Given the description of an element on the screen output the (x, y) to click on. 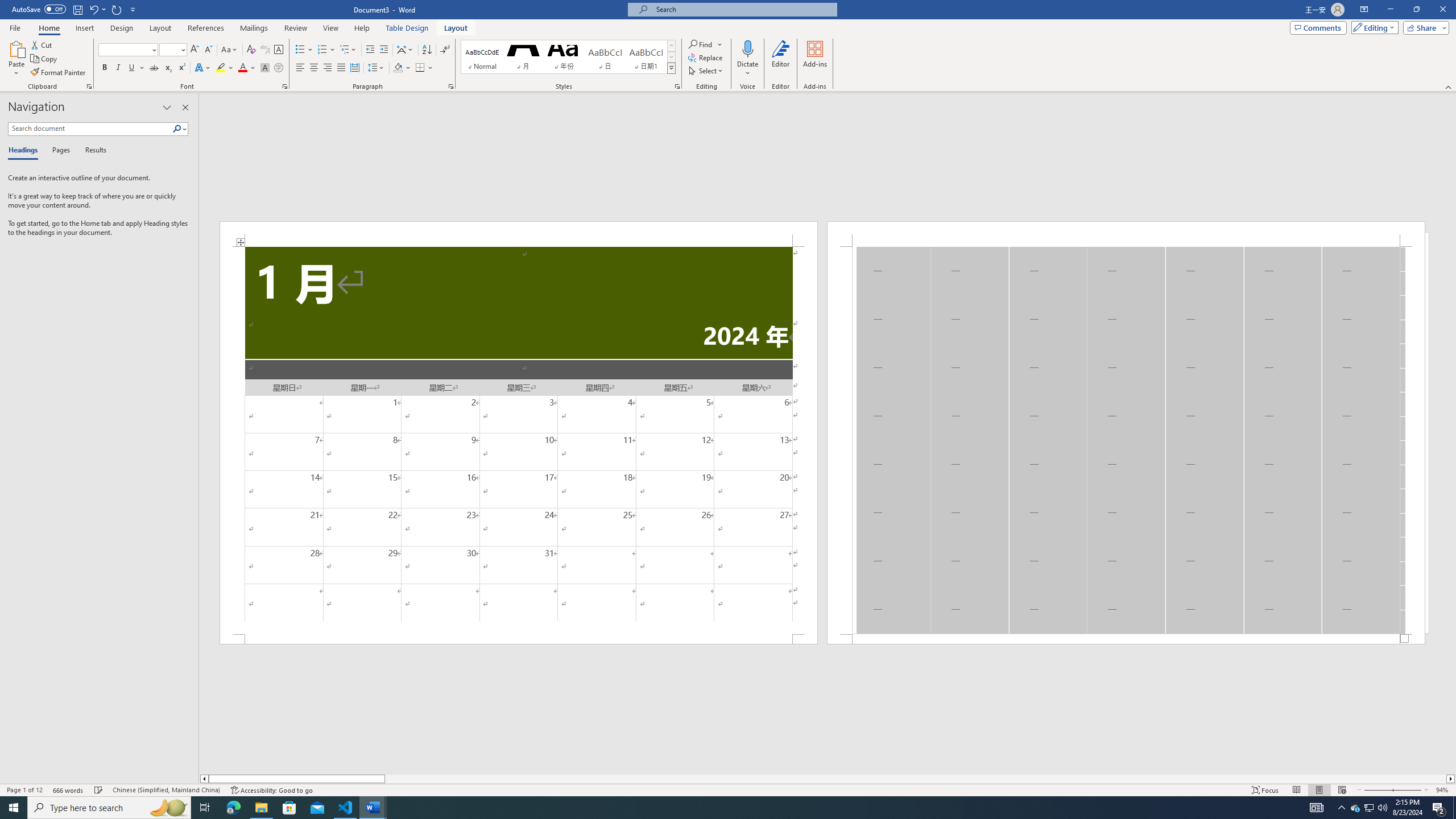
Column right (1450, 778)
Word Count 666 words (68, 790)
AutomationID: QuickStylesGallery (568, 56)
